Given the description of an element on the screen output the (x, y) to click on. 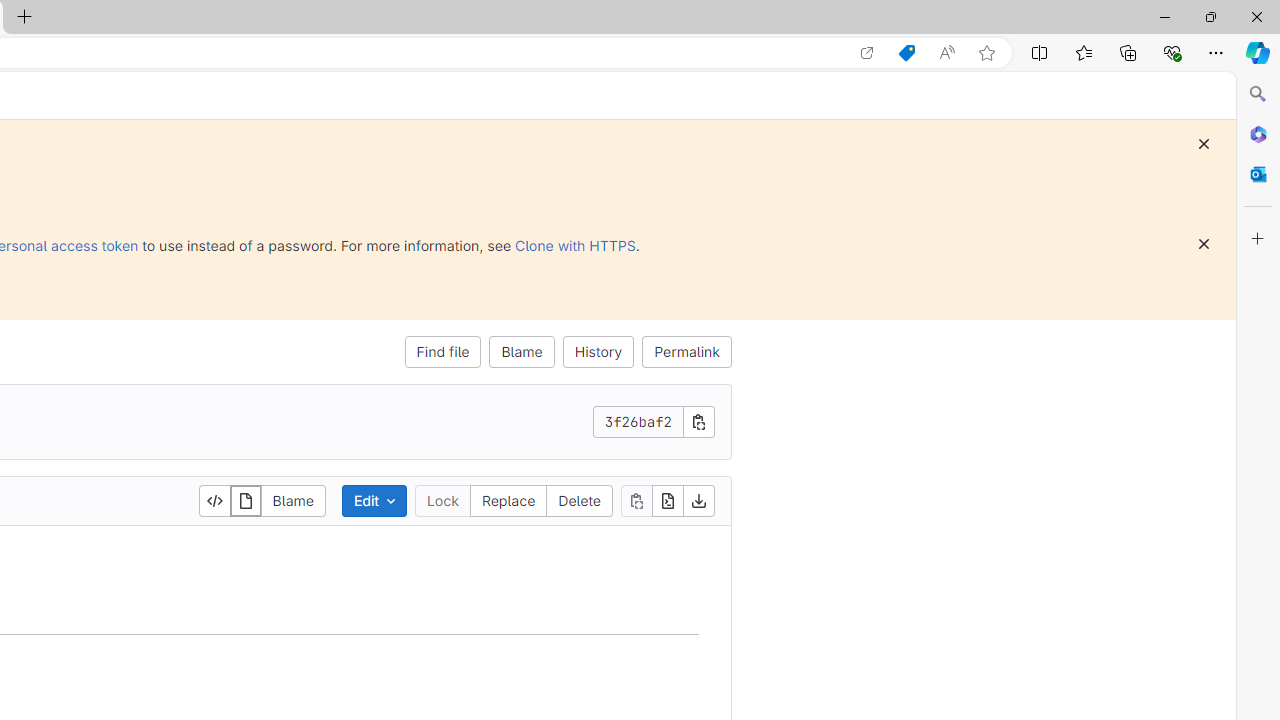
Replace (507, 500)
Open in app (867, 53)
Display rendered file (245, 500)
